Given the description of an element on the screen output the (x, y) to click on. 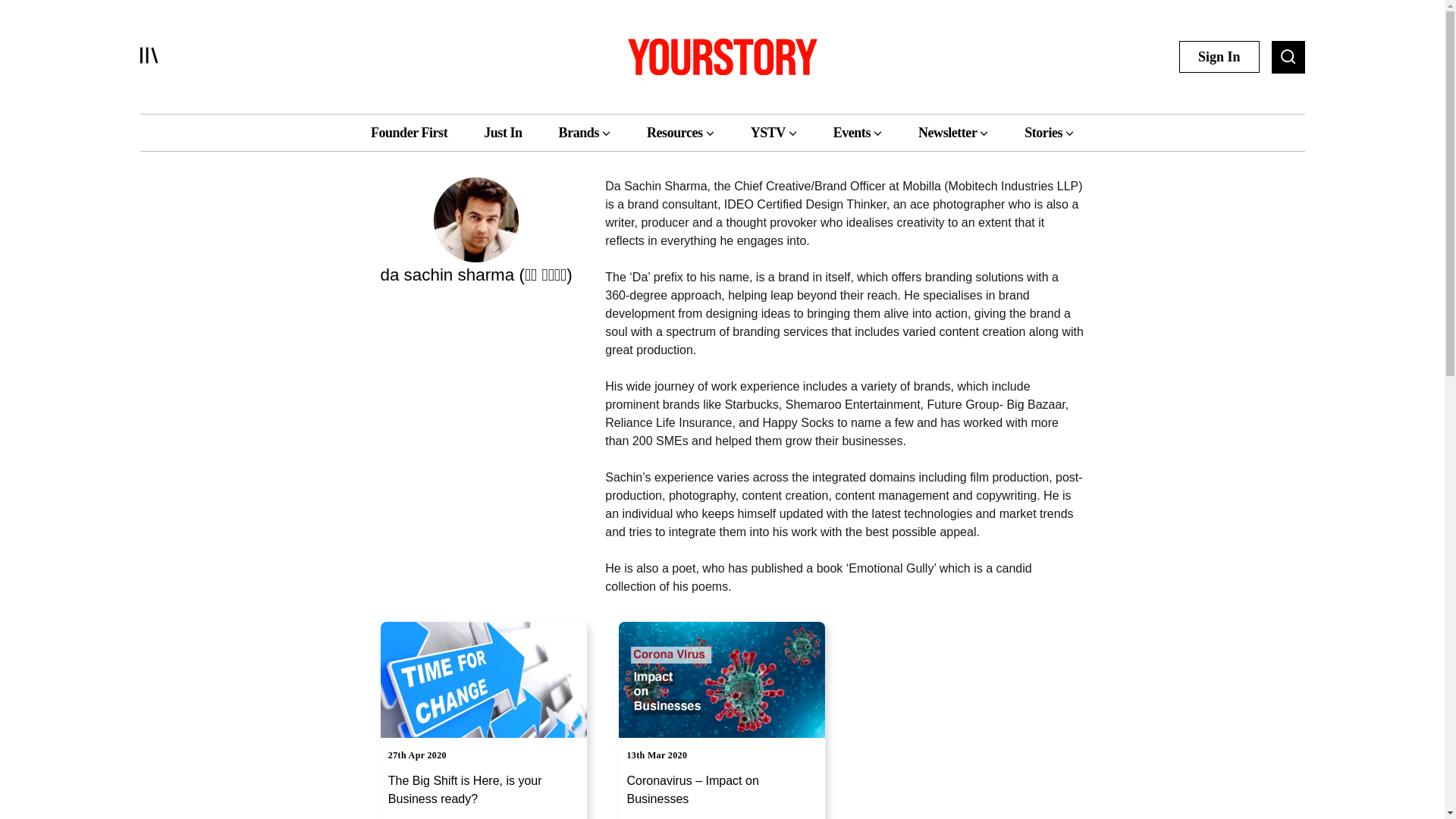
Just In (502, 132)
The Big Shift is Here, is your Business ready? (483, 795)
Founder First (408, 132)
